Given the description of an element on the screen output the (x, y) to click on. 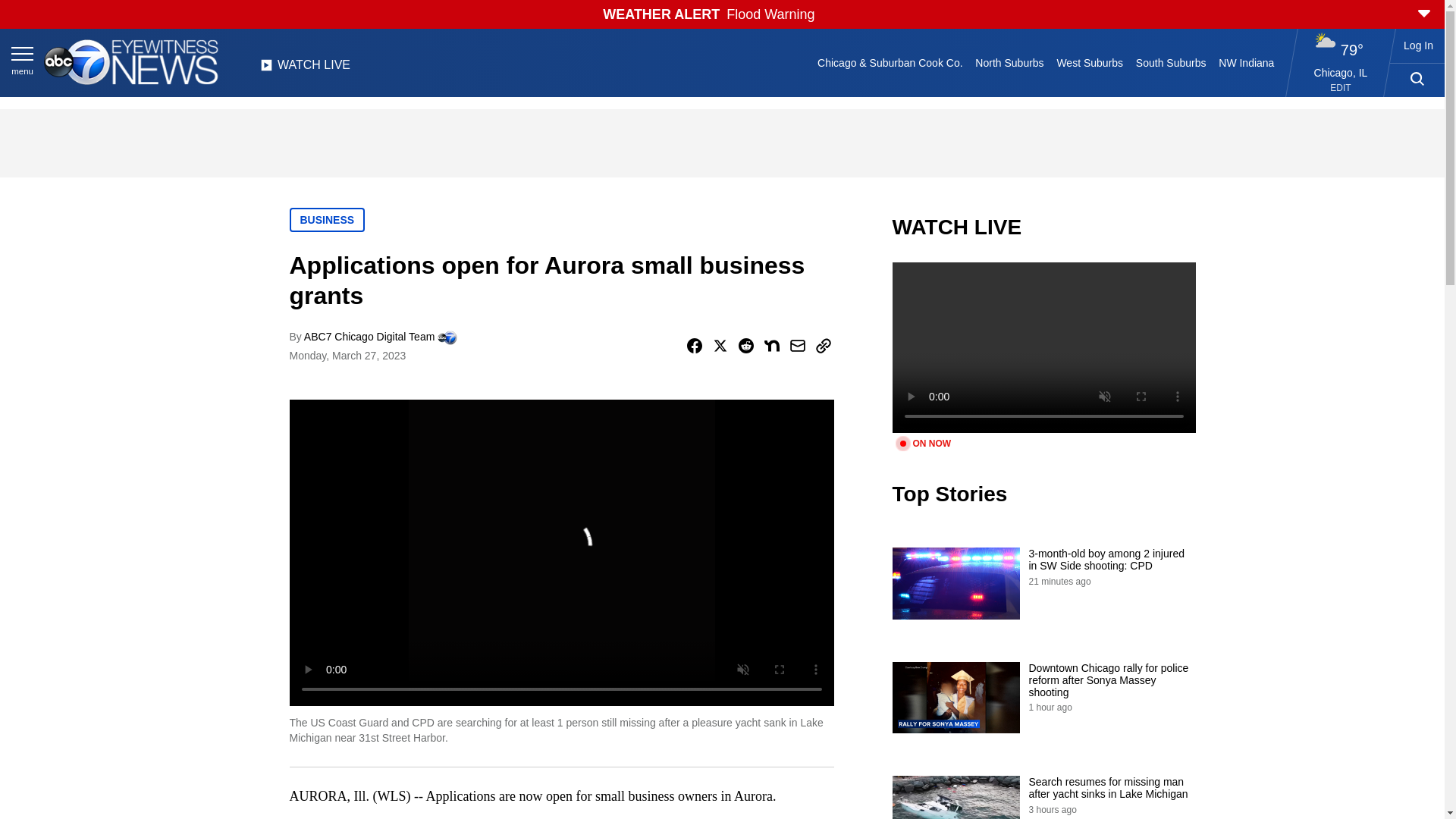
WATCH LIVE (305, 69)
West Suburbs (1089, 62)
North Suburbs (1009, 62)
Chicago, IL (1340, 72)
South Suburbs (1170, 62)
NW Indiana (1246, 62)
EDIT (1340, 87)
video.title (1043, 347)
